Given the description of an element on the screen output the (x, y) to click on. 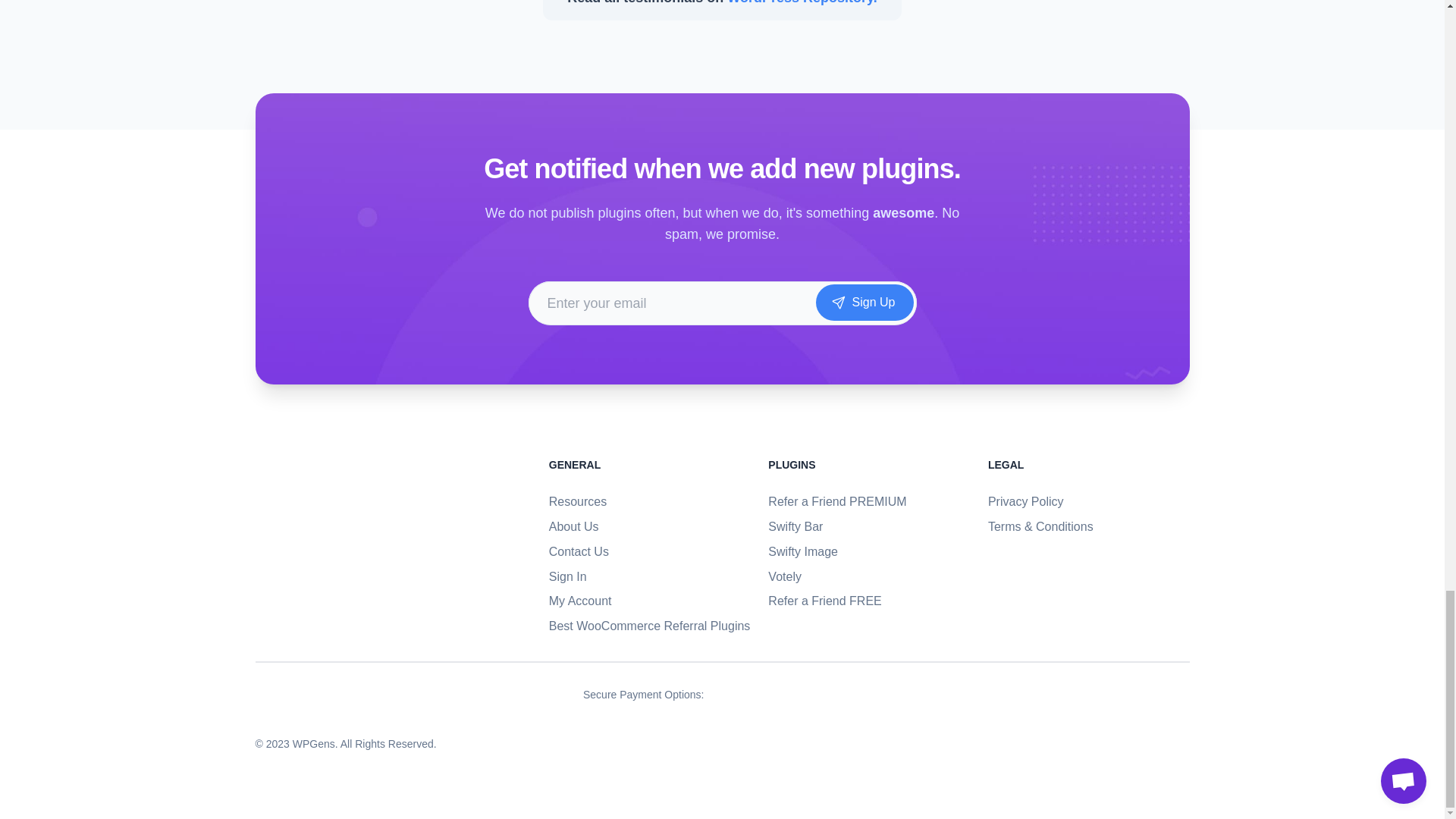
Sign Up (864, 302)
Swifty Bar (795, 526)
Refer a Friend PREMIUM (836, 501)
Resources (577, 501)
Swifty Image (803, 551)
About Us (573, 526)
Best WooCommerce Referral Plugins (649, 625)
My Account (579, 600)
Sign In (567, 576)
Votely (785, 576)
Contact Us (578, 551)
WordPress Repository. (801, 2)
